Given the description of an element on the screen output the (x, y) to click on. 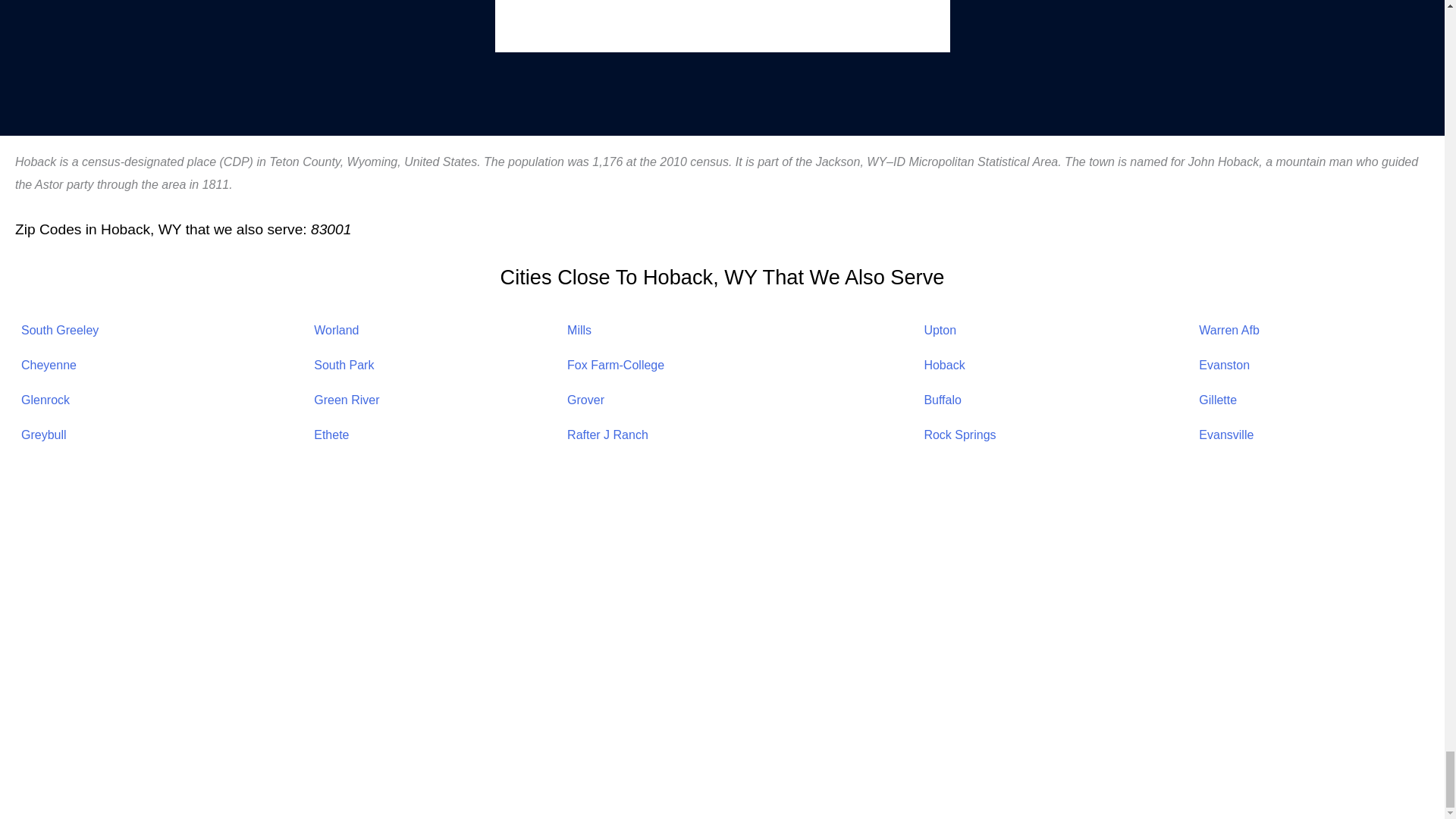
Warren Afb (1228, 329)
Worland (336, 329)
South Greeley (60, 329)
Mills (579, 329)
Upton (939, 329)
Fox Farm-College (615, 364)
South Park (344, 364)
Cheyenne (49, 364)
